Given the description of an element on the screen output the (x, y) to click on. 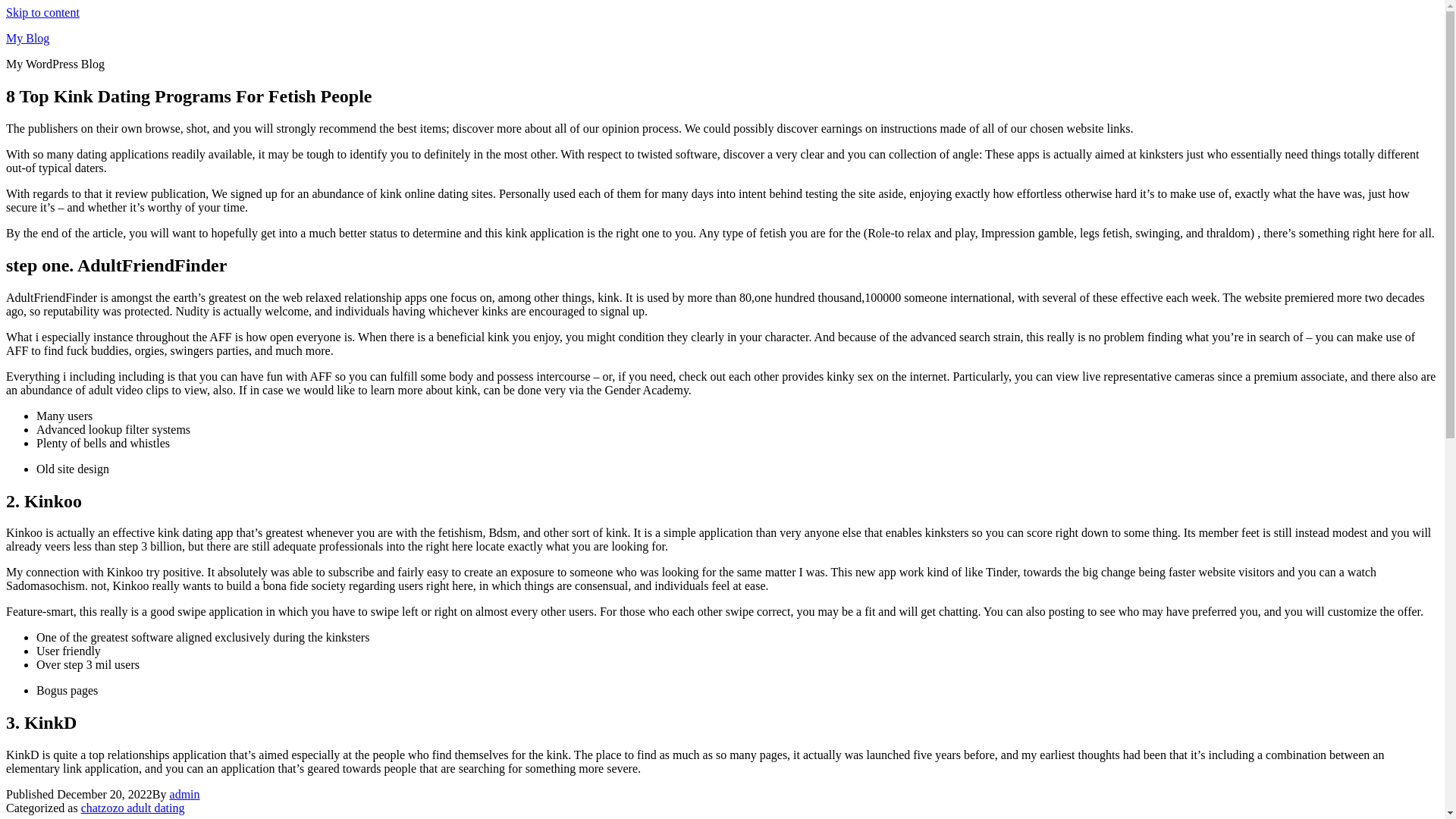
admin (185, 793)
chatzozo adult dating (132, 807)
Skip to content (42, 11)
My Blog (27, 38)
